Given the description of an element on the screen output the (x, y) to click on. 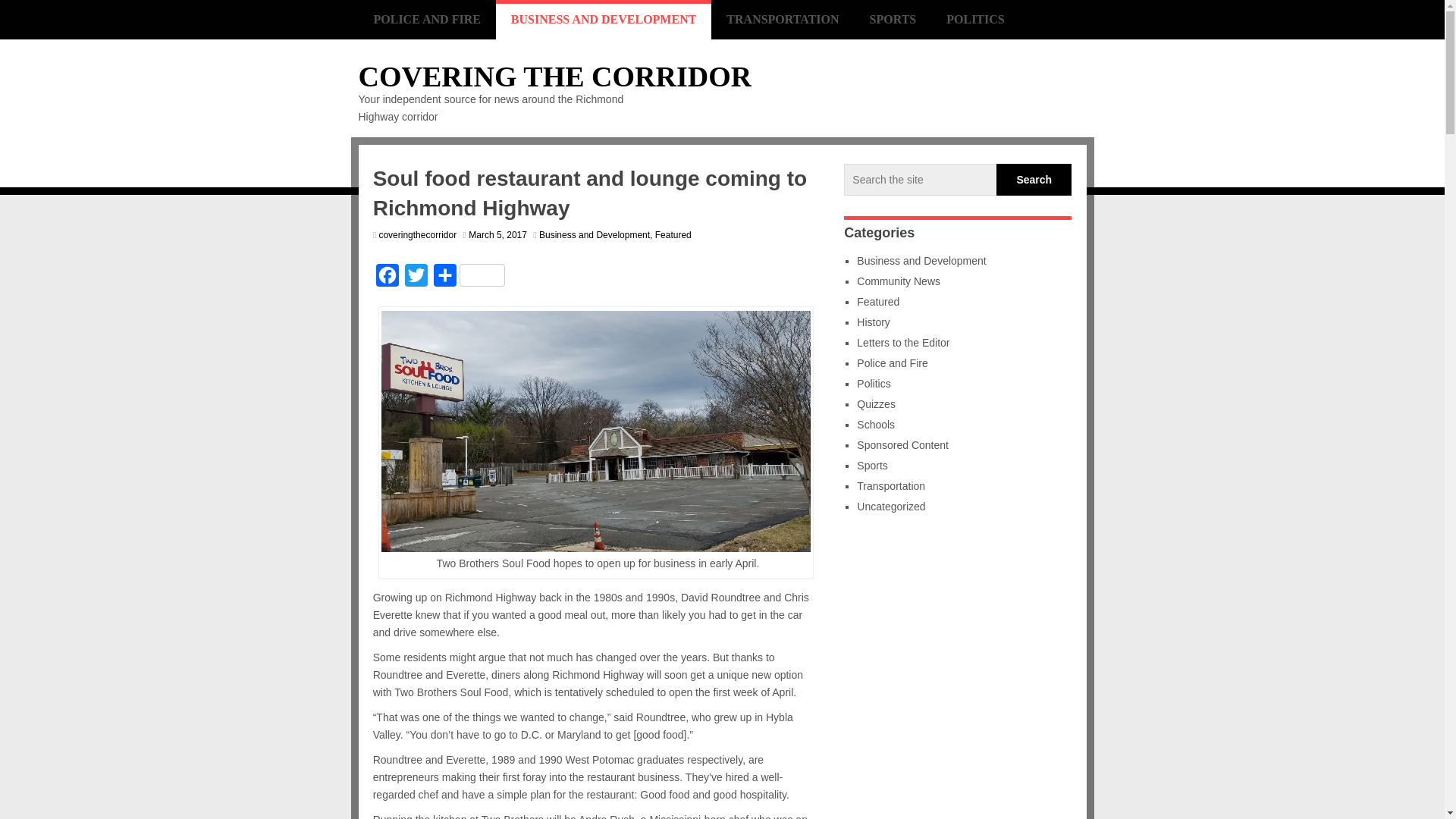
Twitter (415, 278)
SPORTS (892, 19)
Transportation (890, 485)
Featured (878, 301)
Sponsored Content (903, 444)
TRANSPORTATION (782, 19)
BUSINESS AND DEVELOPMENT (603, 19)
POLITICS (975, 19)
Search (1033, 179)
History (873, 322)
Twitter (415, 278)
Business and Development (921, 260)
coveringthecorridor (417, 235)
Search (1033, 179)
Business and Development (593, 235)
